Given the description of an element on the screen output the (x, y) to click on. 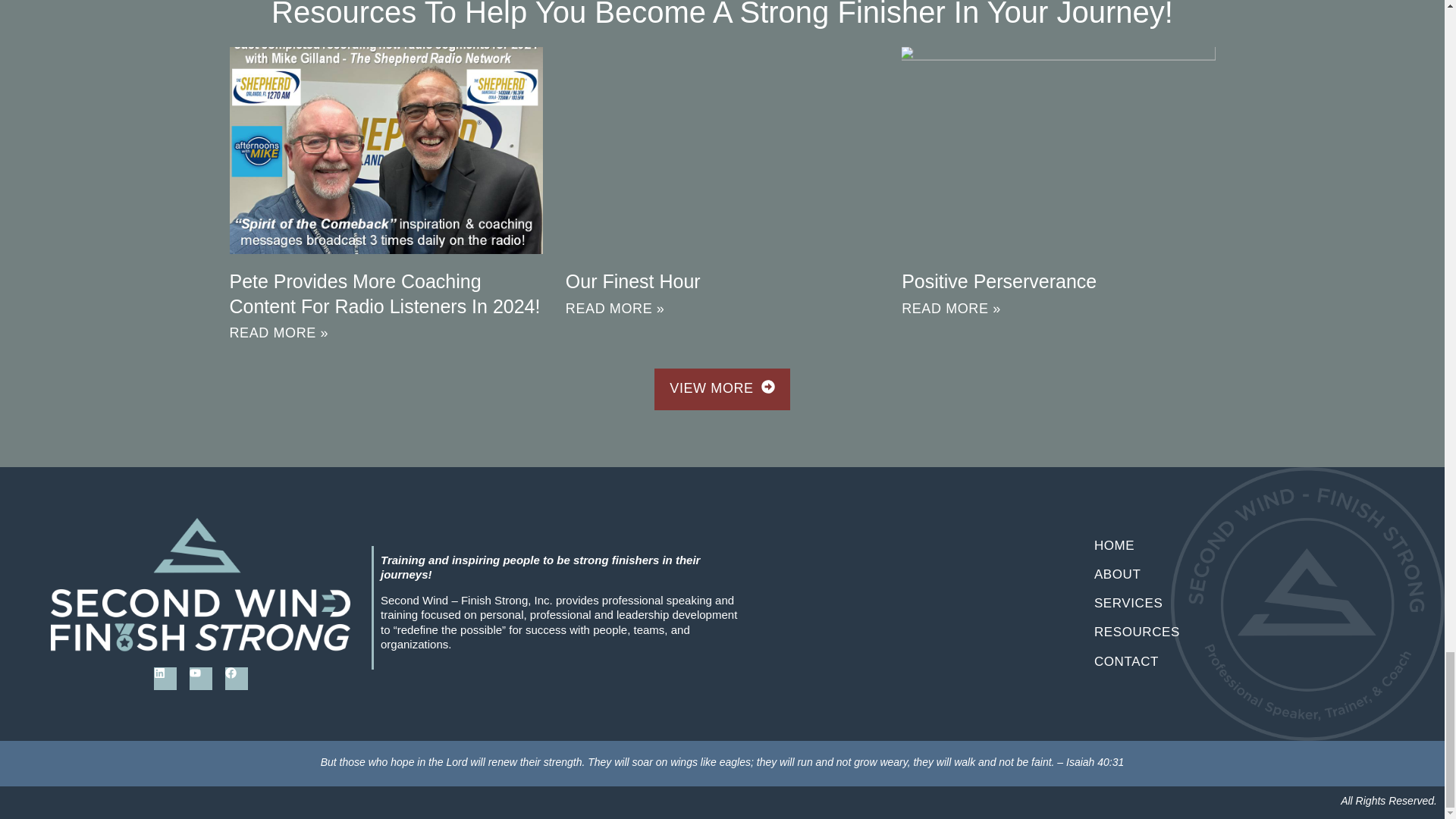
Our Finest Hour (633, 281)
RESOURCES (1243, 632)
HOME (1243, 545)
ABOUT (1243, 574)
CONTACT (1243, 661)
VIEW MORE (721, 388)
Positive Perserverance (998, 281)
SERVICES (1243, 603)
